Given the description of an element on the screen output the (x, y) to click on. 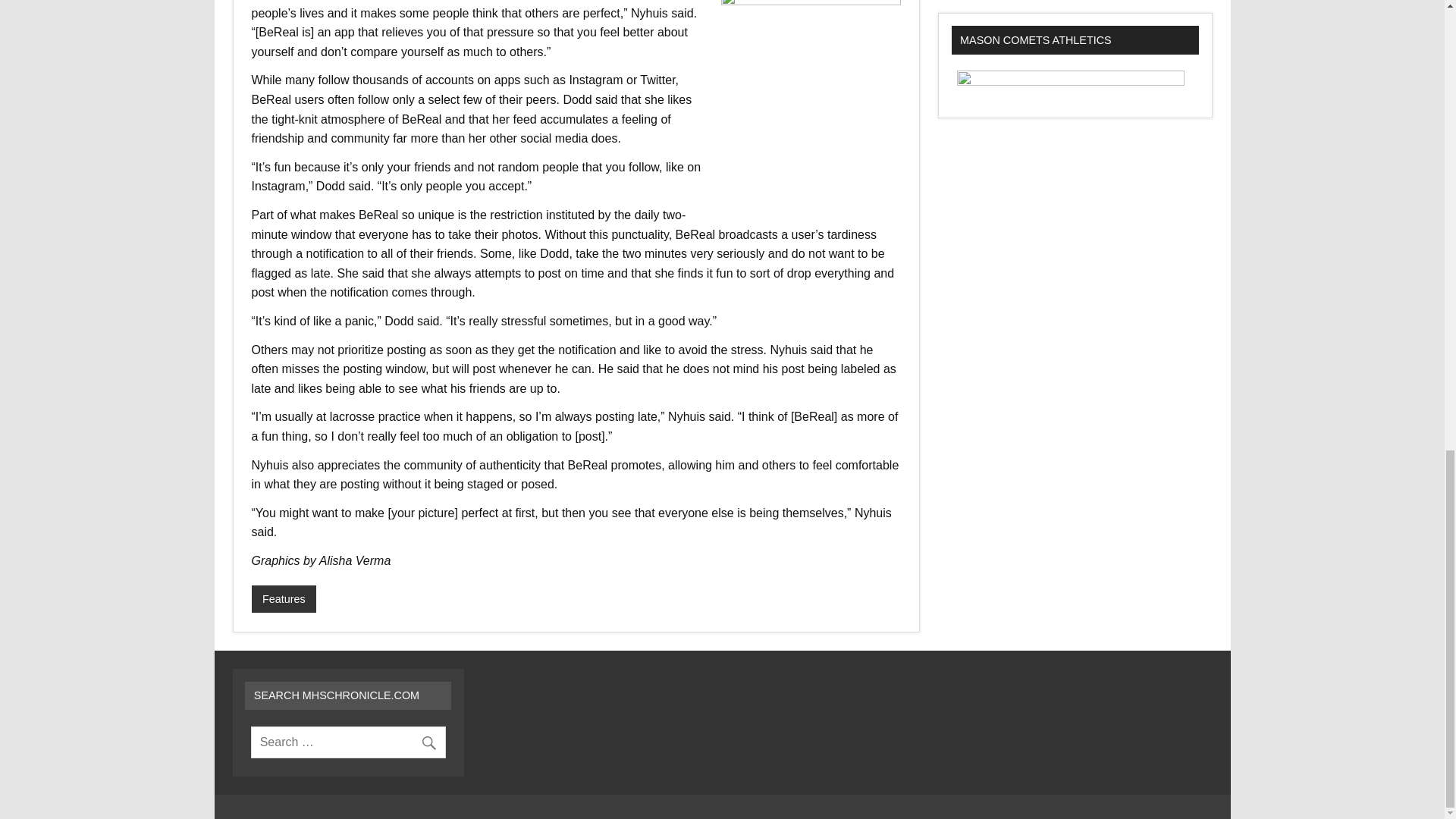
Features (284, 598)
